Given the description of an element on the screen output the (x, y) to click on. 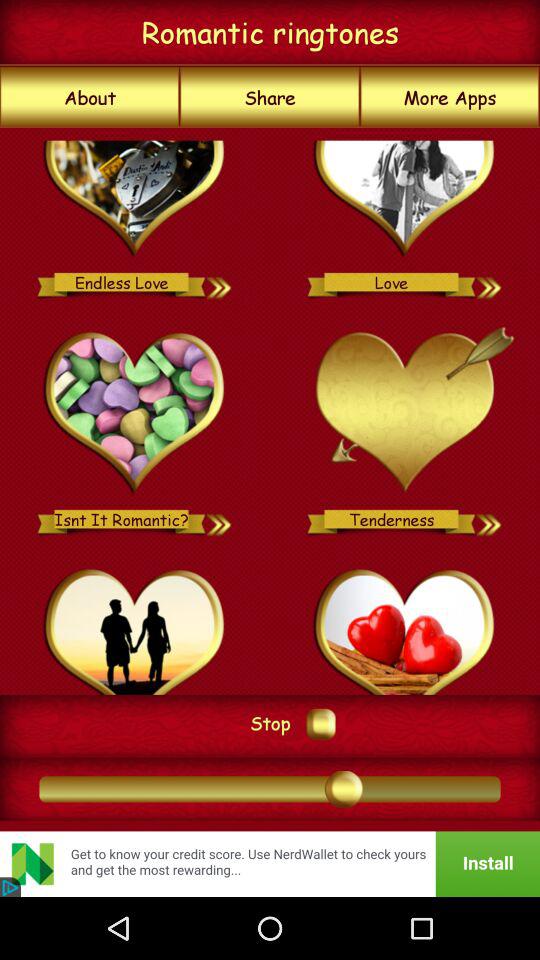
launch the item next to the share (450, 97)
